Given the description of an element on the screen output the (x, y) to click on. 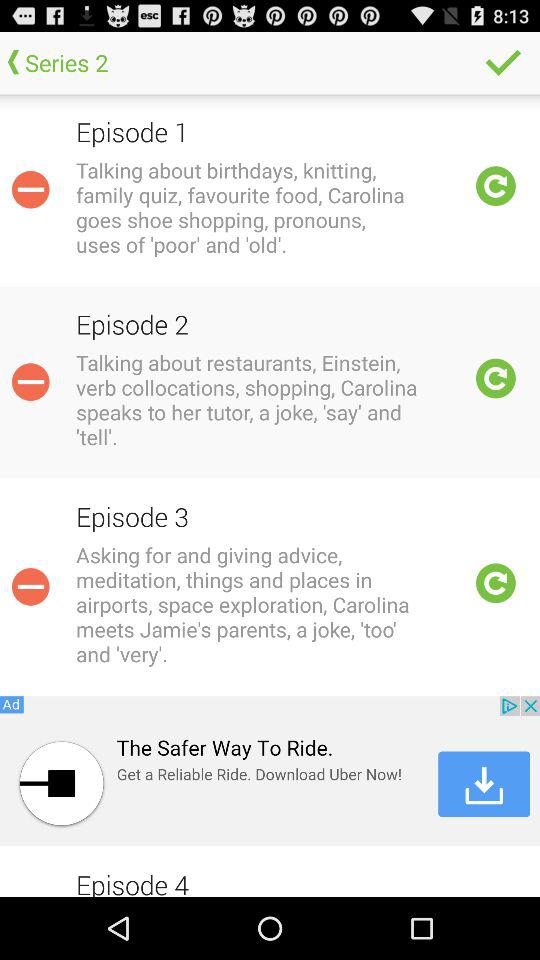
refresh (496, 583)
